Given the description of an element on the screen output the (x, y) to click on. 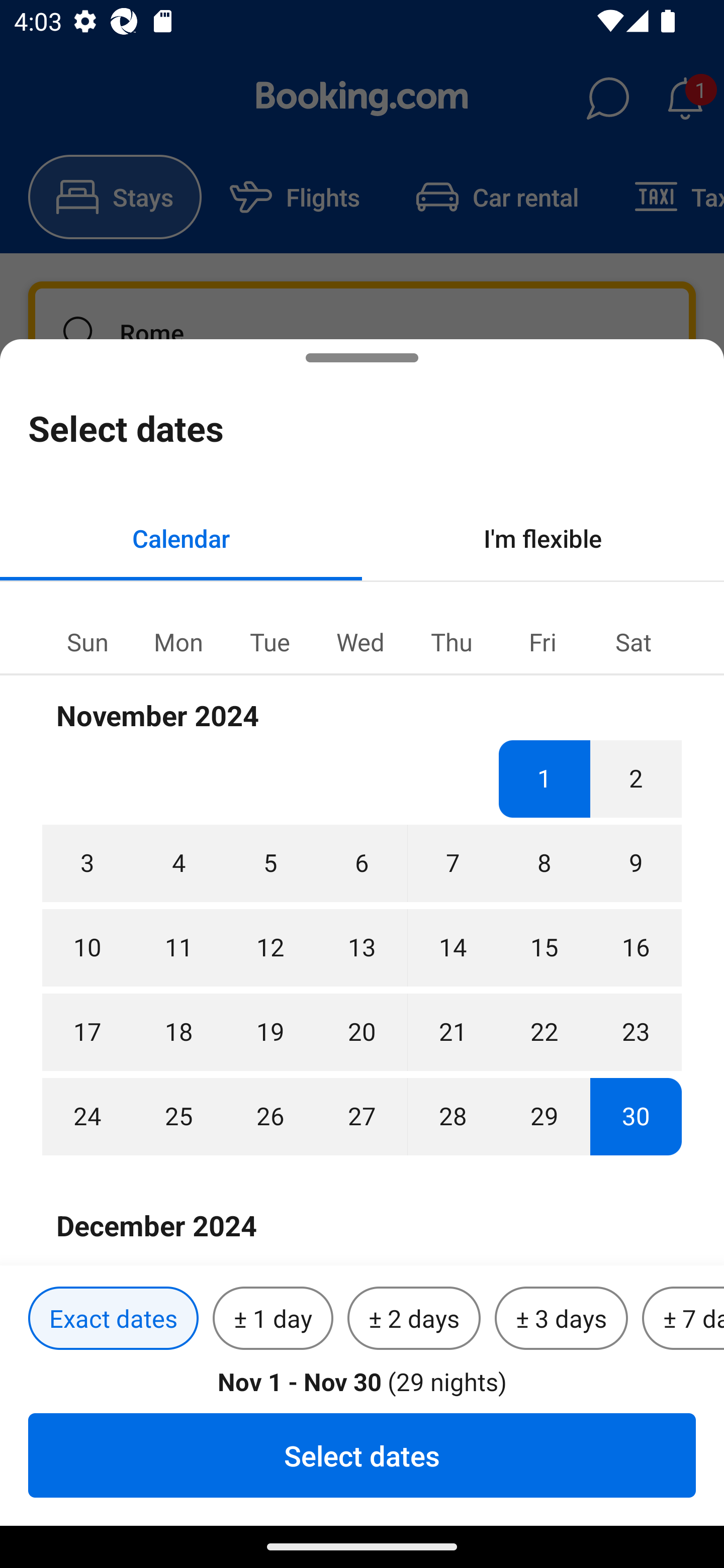
I'm flexible (543, 537)
Exact dates (113, 1318)
± 1 day (272, 1318)
± 2 days (413, 1318)
± 3 days (560, 1318)
± 7 days (683, 1318)
Select dates (361, 1454)
